Given the description of an element on the screen output the (x, y) to click on. 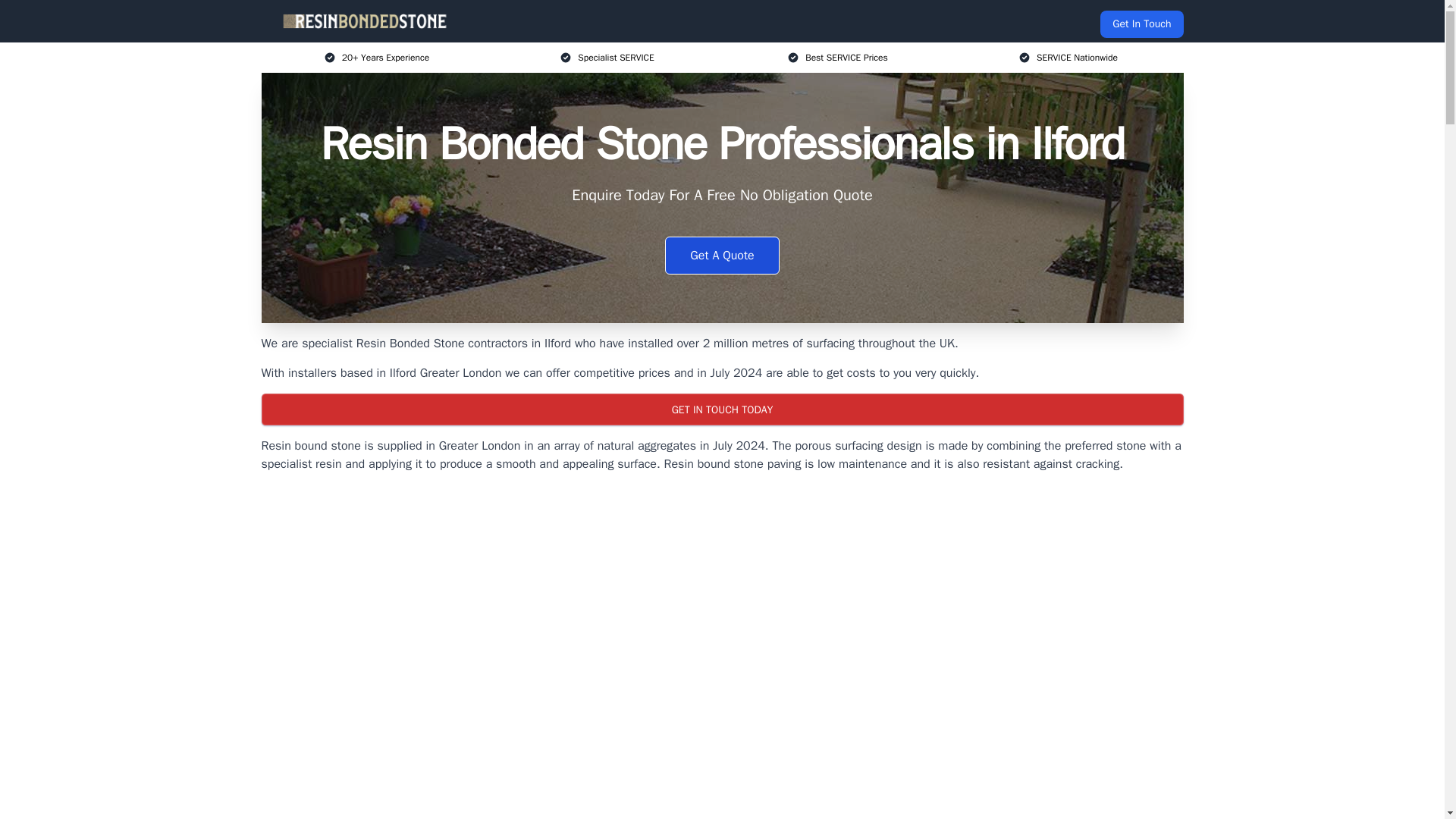
Get A Quote (721, 255)
Get In Touch (1141, 23)
GET IN TOUCH TODAY (721, 409)
